Given the description of an element on the screen output the (x, y) to click on. 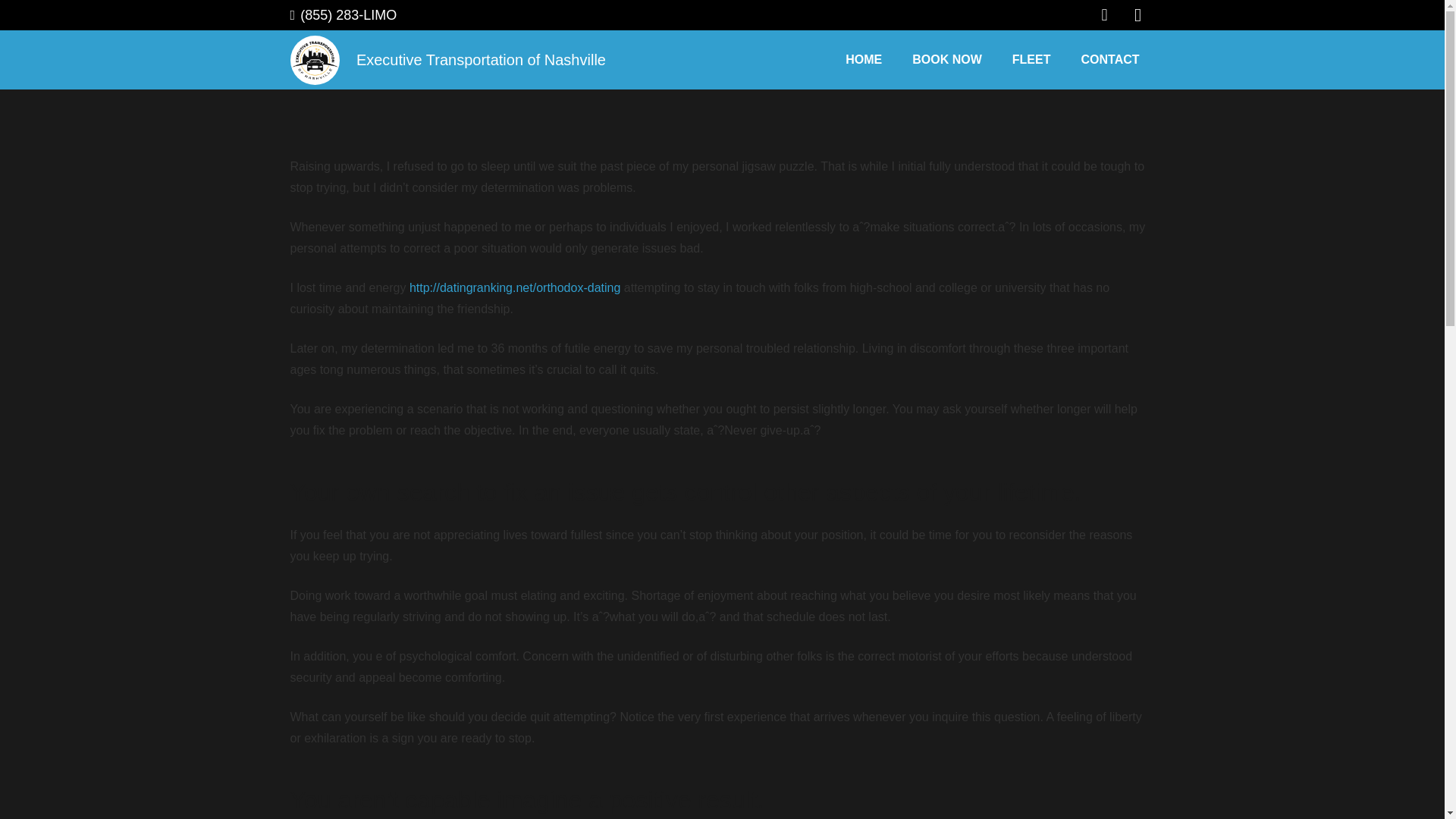
CONTACT (1109, 59)
BOOK NOW (946, 59)
Instagram (1137, 15)
Facebook (1104, 15)
HOME (862, 59)
FLEET (1031, 59)
